Given the description of an element on the screen output the (x, y) to click on. 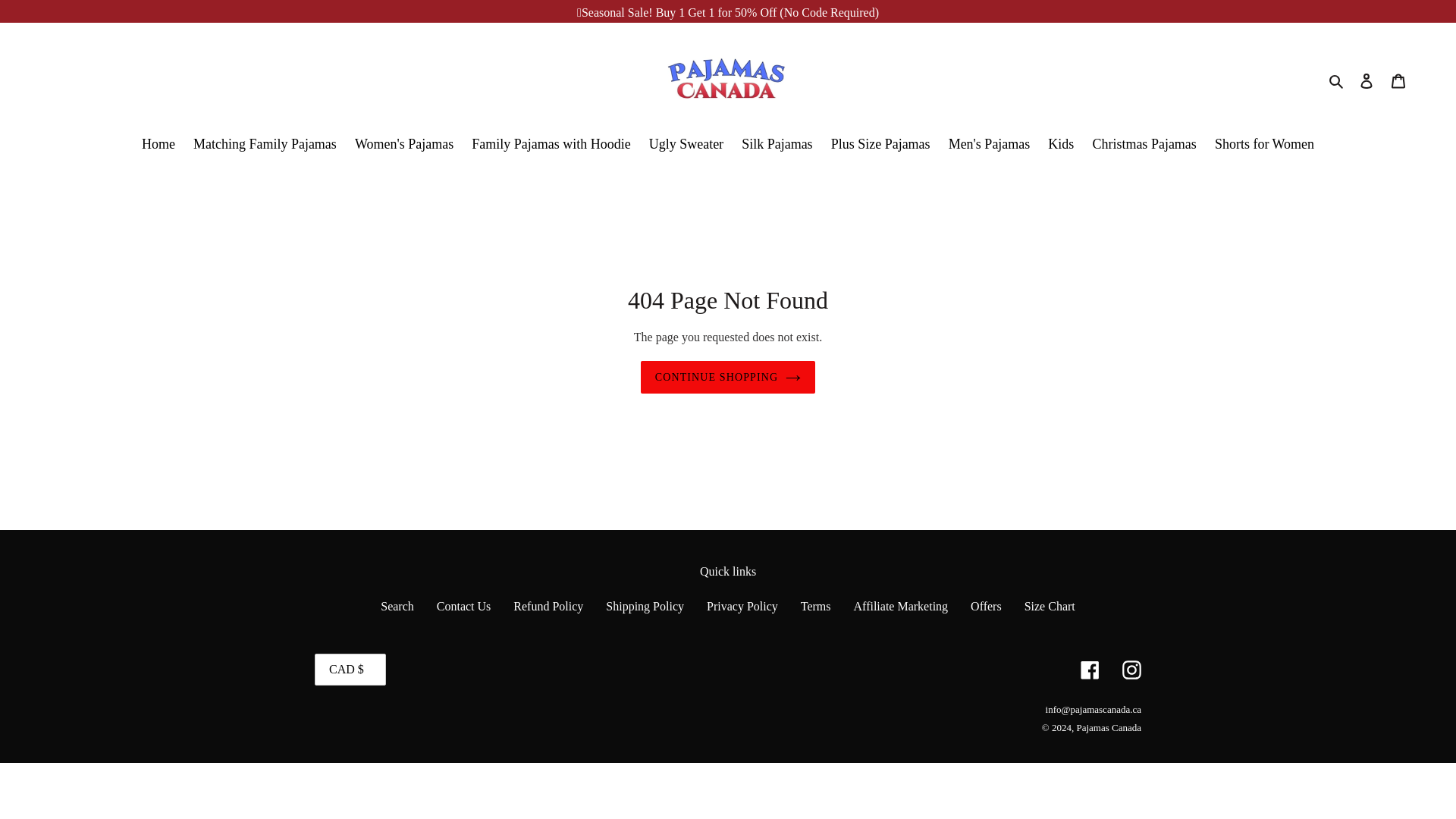
CONTINUE SHOPPING (727, 377)
Silk Pajamas (777, 145)
Matching Family Pajamas (264, 145)
Privacy Policy (741, 605)
Kids (1061, 145)
Shipping Policy (644, 605)
Ugly Sweater (686, 145)
Log in (1366, 80)
Plus Size Pajamas (880, 145)
Search (396, 605)
